Given the description of an element on the screen output the (x, y) to click on. 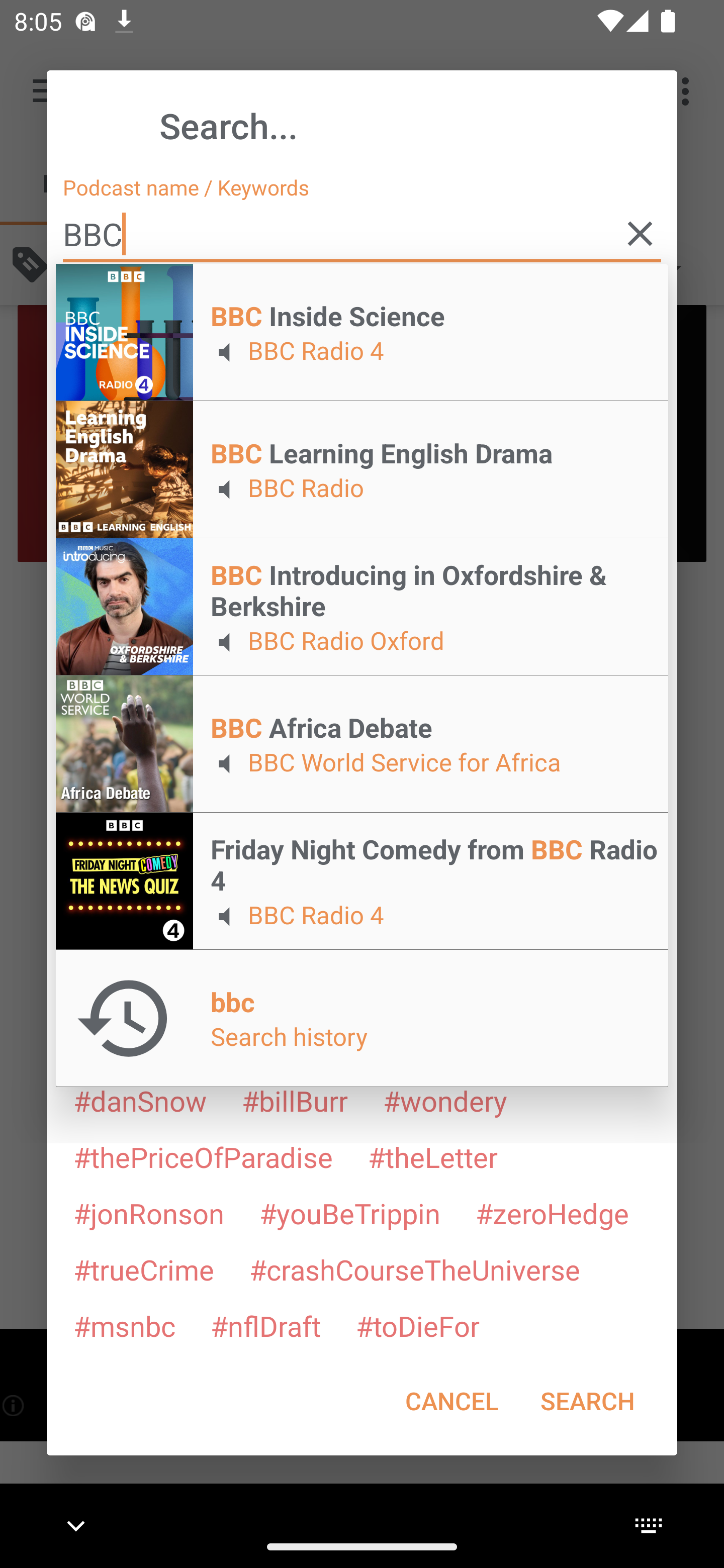
BBC (361, 234)
#danSnow (139, 1100)
#billBurr (294, 1100)
#wondery (444, 1100)
#thePriceOfParadise (203, 1157)
#theLetter (432, 1157)
#jonRonson (148, 1213)
#youBeTrippin (349, 1213)
#zeroHedge (552, 1213)
#trueCrime (143, 1268)
#crashCourseTheUniverse (414, 1268)
#msnbc (124, 1325)
#nflDraft (265, 1325)
#toDieFor (417, 1325)
CANCEL (451, 1400)
SEARCH (587, 1400)
